Given the description of an element on the screen output the (x, y) to click on. 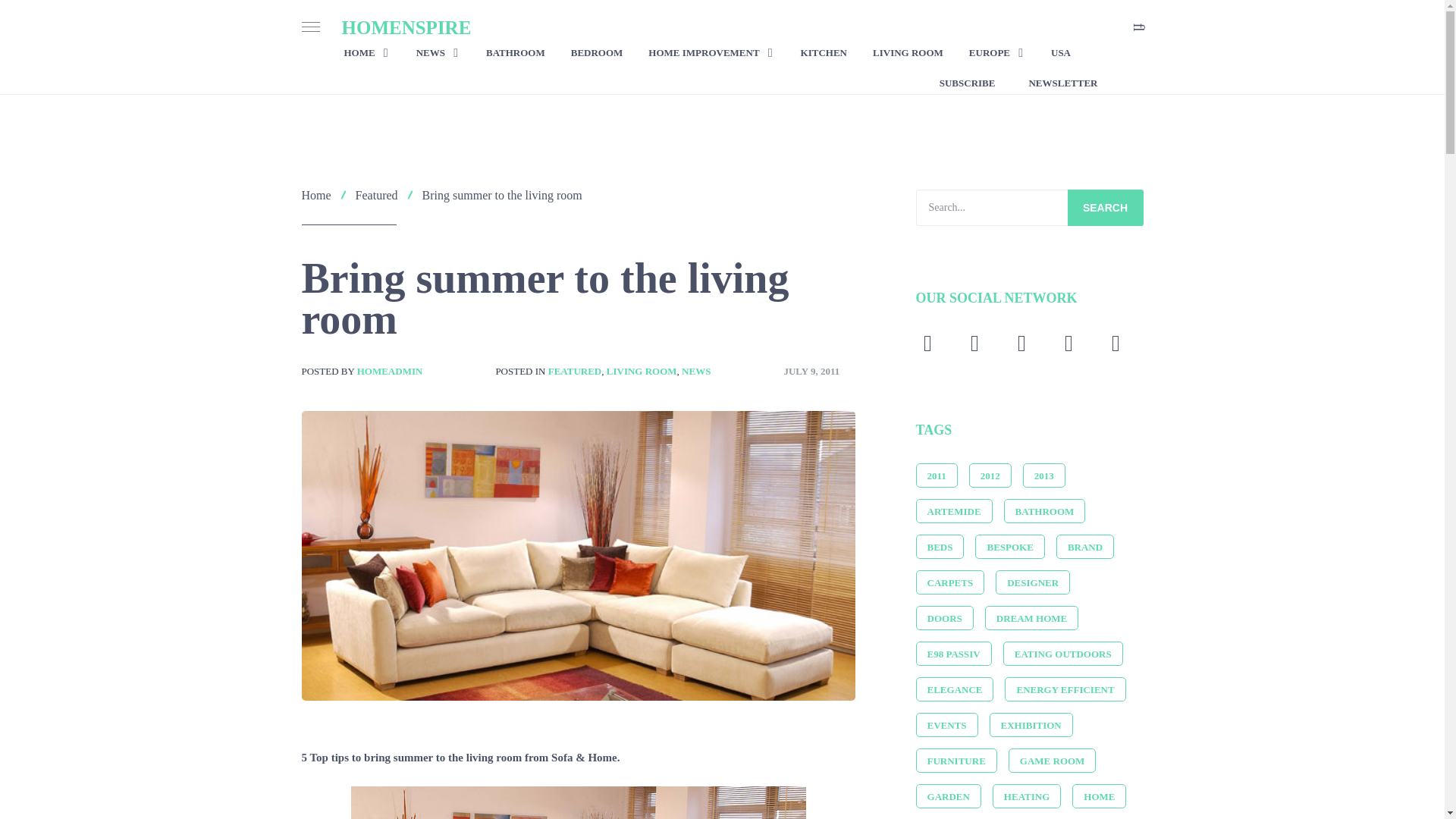
HOMENSPIRE (405, 27)
Home (316, 195)
BATHROOM (515, 53)
View all posts in News (695, 370)
Posts by homeadmin (389, 370)
NEWS (438, 53)
Featured (376, 195)
HOME IMPROVEMENT (710, 53)
View all posts in Featured (575, 370)
Urbino (577, 802)
KITCHEN (823, 53)
HOME (366, 53)
HOMEADMIN (389, 370)
EUROPE (997, 53)
BEDROOM (596, 53)
